Given the description of an element on the screen output the (x, y) to click on. 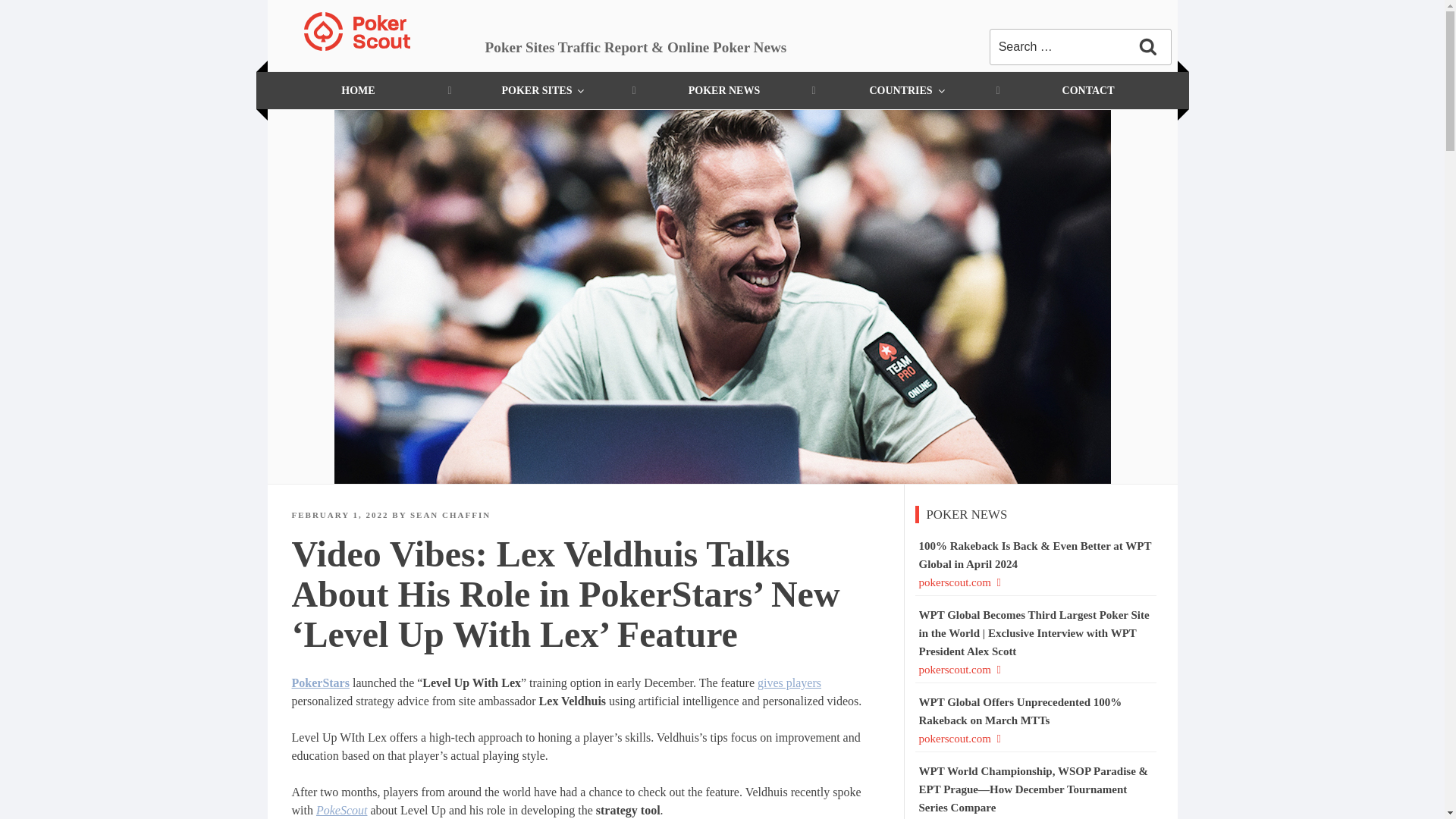
Search (1147, 47)
COUNTRIES (905, 90)
SEAN CHAFFIN (450, 514)
HOME (357, 90)
POKER NEWS (723, 90)
gives players (789, 682)
POKER SITES (541, 90)
PokerStars (320, 682)
FEBRUARY 1, 2022 (339, 514)
CONTACT (1087, 90)
